Given the description of an element on the screen output the (x, y) to click on. 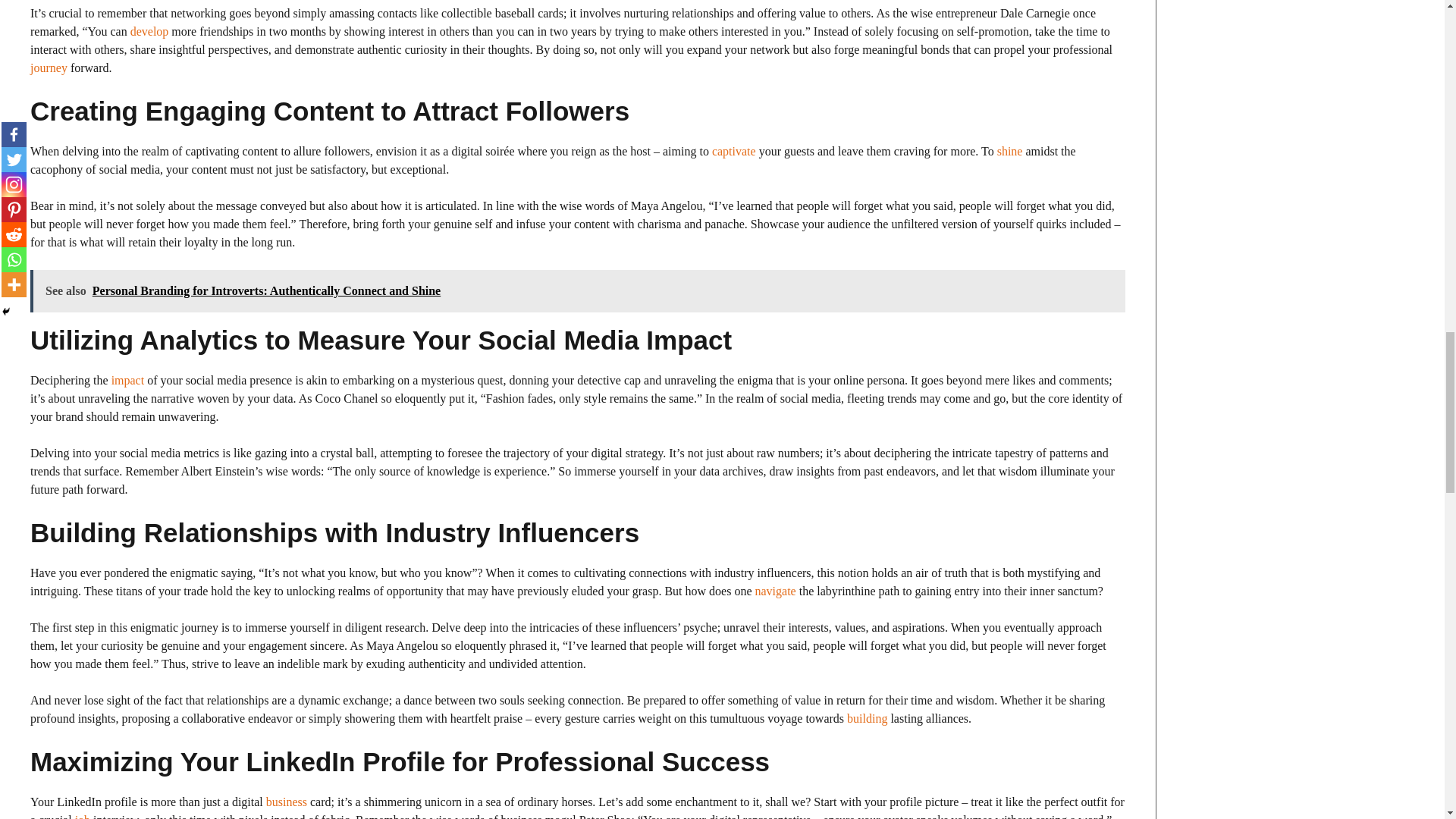
captivate (733, 151)
shine (1010, 151)
journey (48, 67)
develop (149, 31)
